Given the description of an element on the screen output the (x, y) to click on. 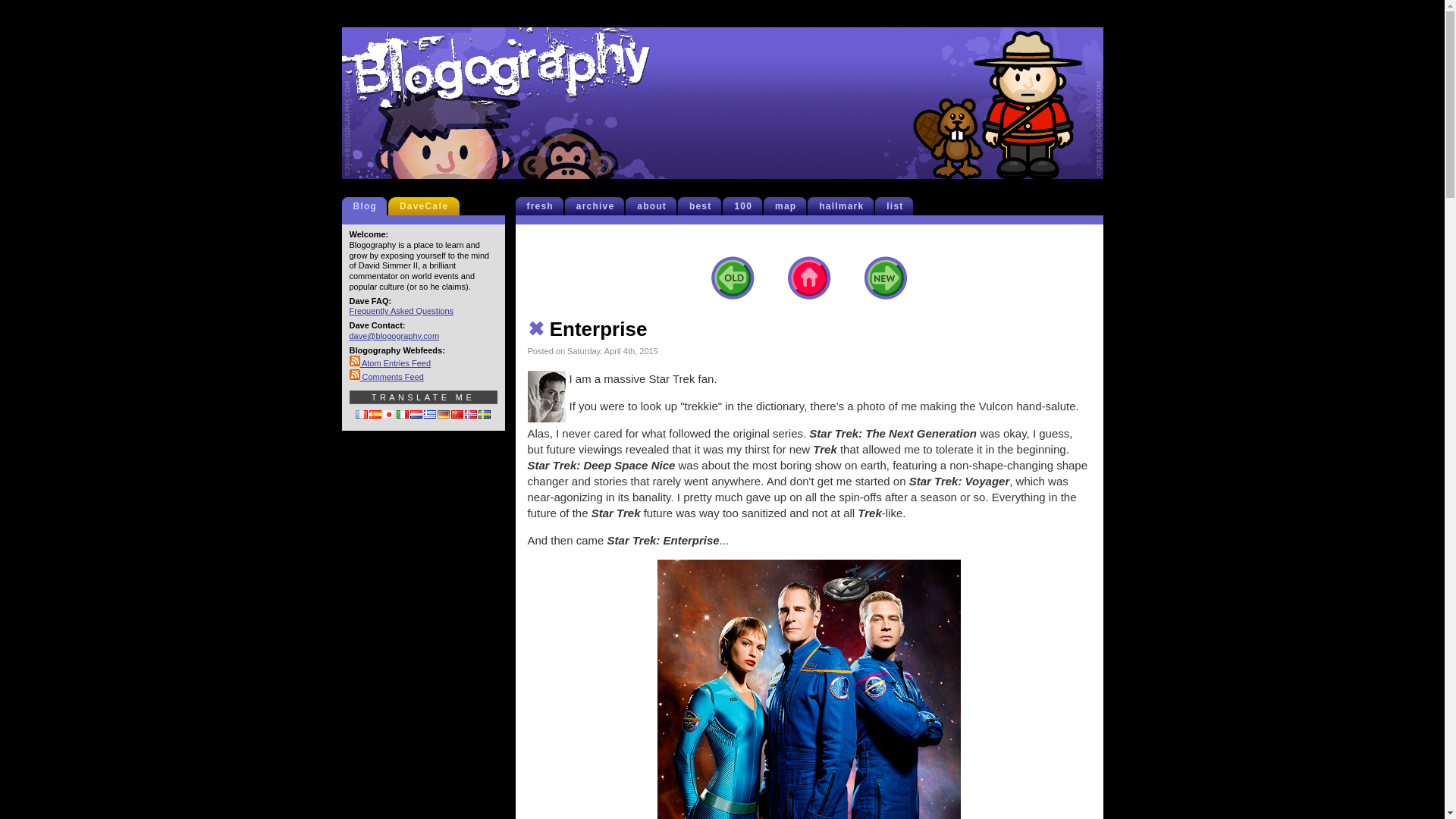
best (703, 206)
fresh (542, 206)
100 (745, 206)
about (654, 206)
Blog (368, 206)
Atom Entries Feed (389, 362)
DaveCafe (427, 206)
map (789, 206)
Frequently Asked Questions (400, 310)
archive (599, 206)
